Given the description of an element on the screen output the (x, y) to click on. 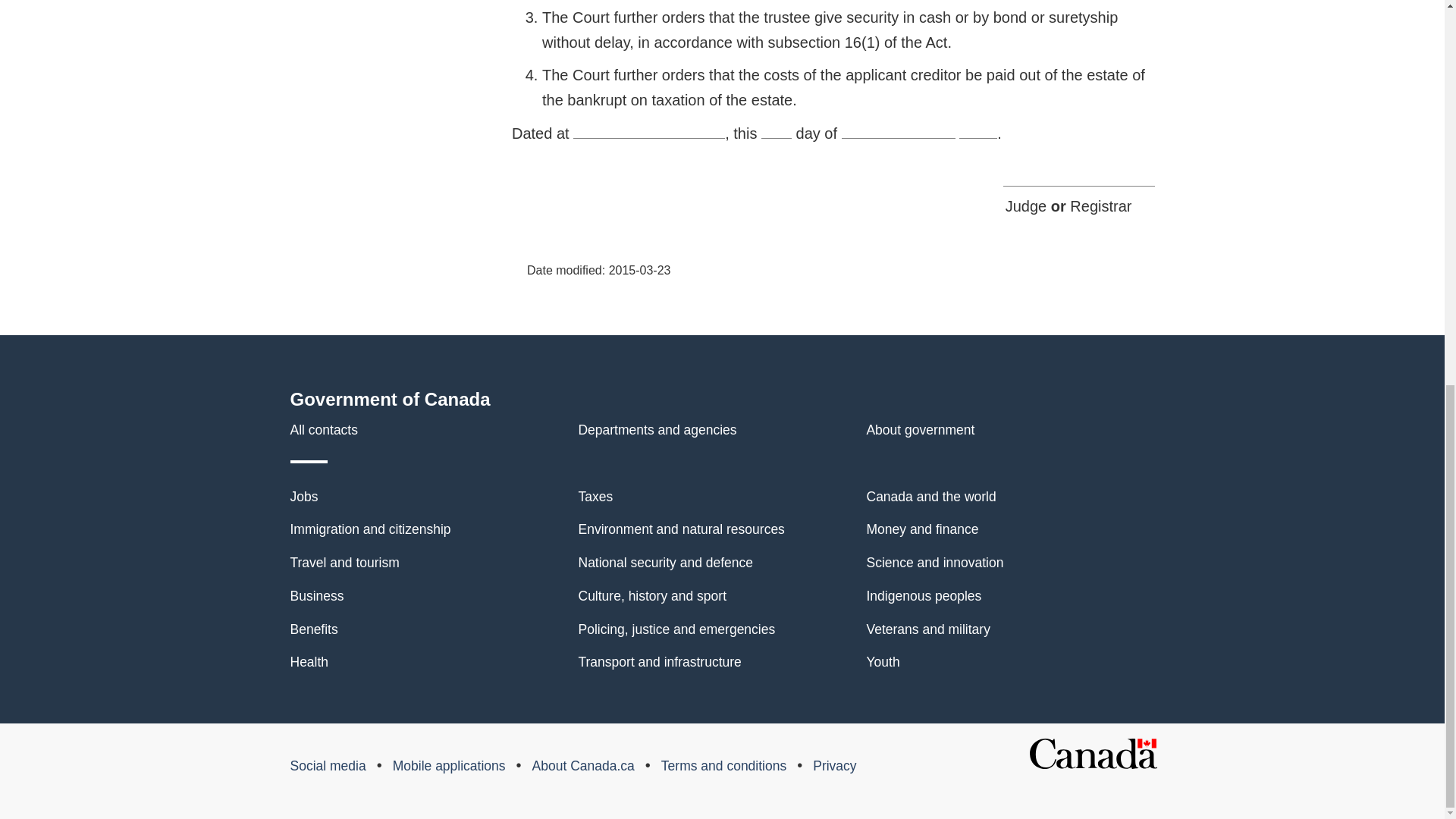
Taxes (595, 496)
Canada and the world (930, 496)
Mobile applications (449, 765)
About government (920, 429)
Terms and conditions (723, 765)
Veterans and military (928, 629)
Environment and natural resources (681, 529)
Health (309, 661)
Transport and infrastructure (659, 661)
Youth (882, 661)
